Given the description of an element on the screen output the (x, y) to click on. 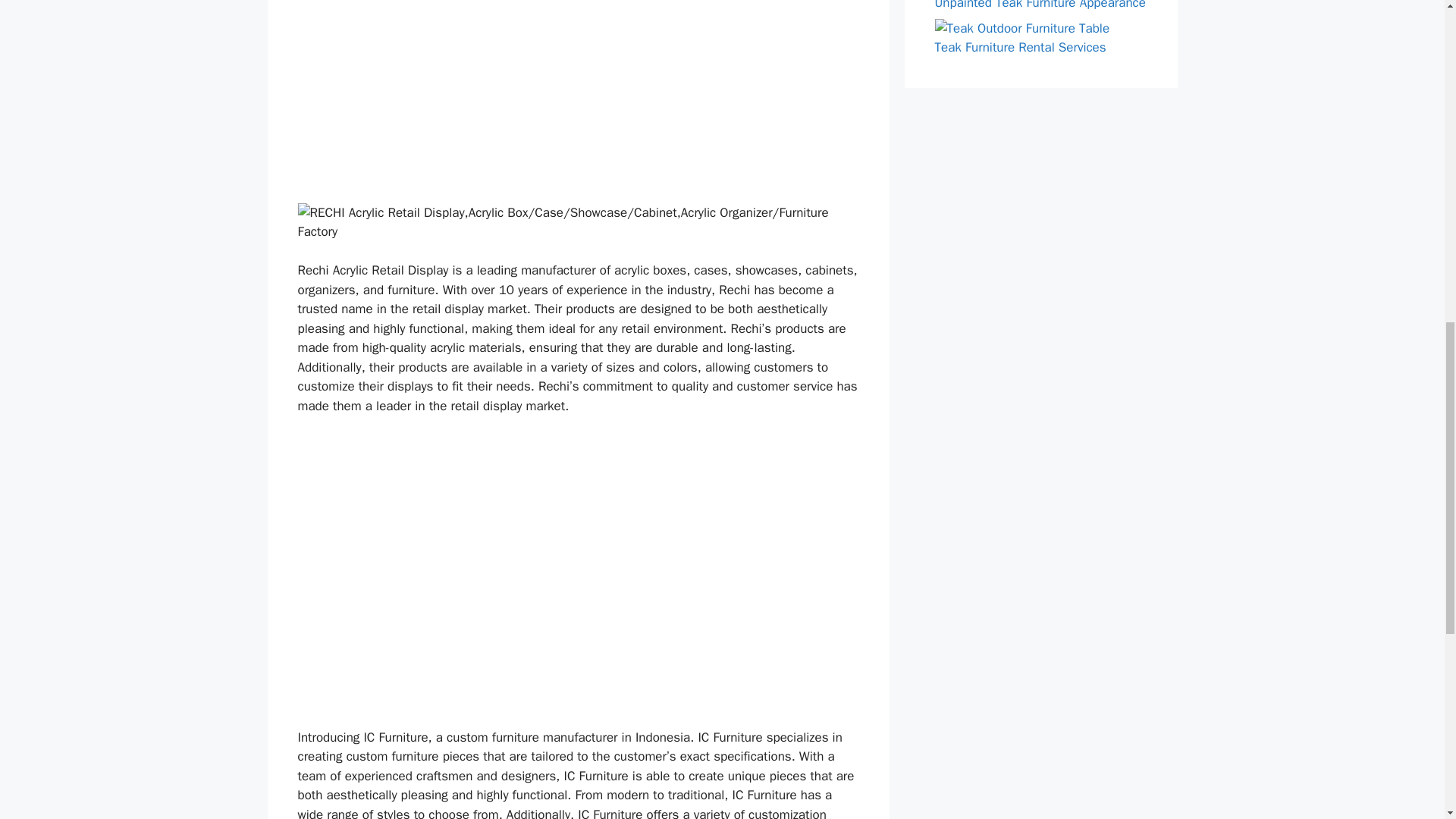
Advertisement (578, 98)
Advertisement (578, 651)
Teak Furniture Rental Services (1019, 47)
Unpainted Teak Furniture Appearance (1039, 5)
Advertisement (578, 504)
